Given the description of an element on the screen output the (x, y) to click on. 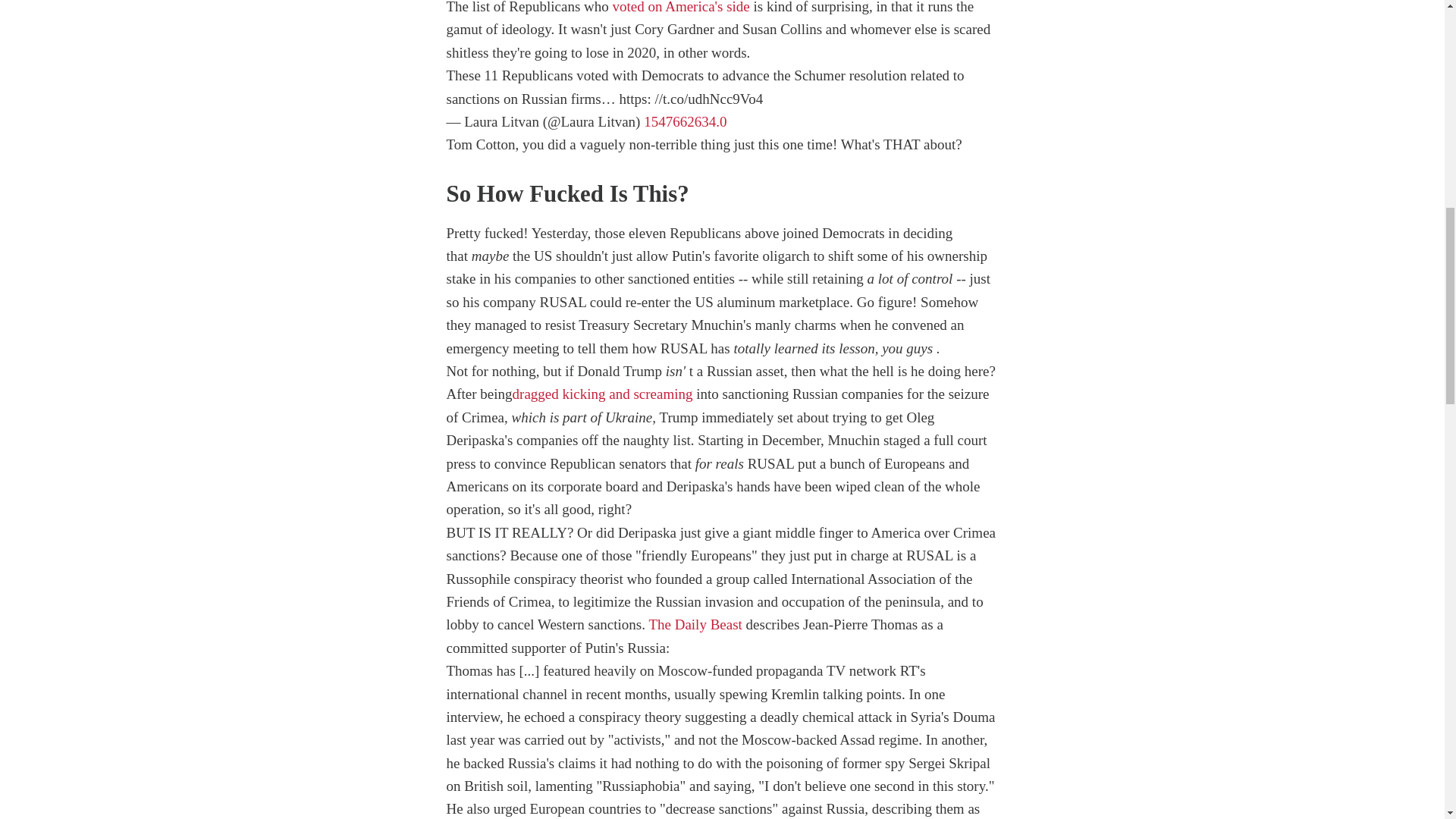
dragged kicking and screaming (602, 393)
1547662634.0 (684, 121)
voted on America's side (680, 7)
The Daily Beast (694, 624)
